Given the description of an element on the screen output the (x, y) to click on. 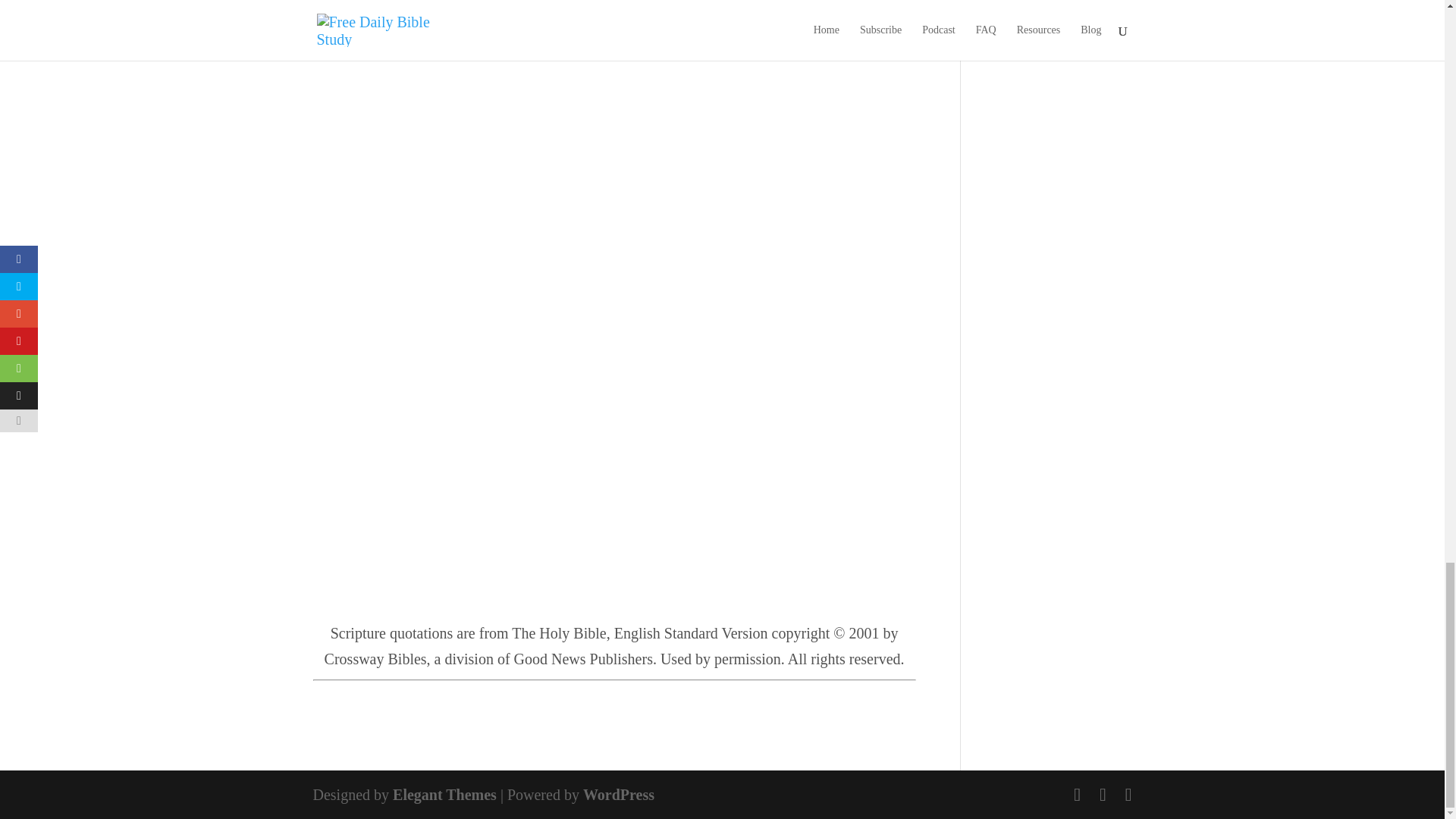
Elegant Themes (444, 794)
WordPress (618, 794)
Premium WordPress Themes (444, 794)
